Given the description of an element on the screen output the (x, y) to click on. 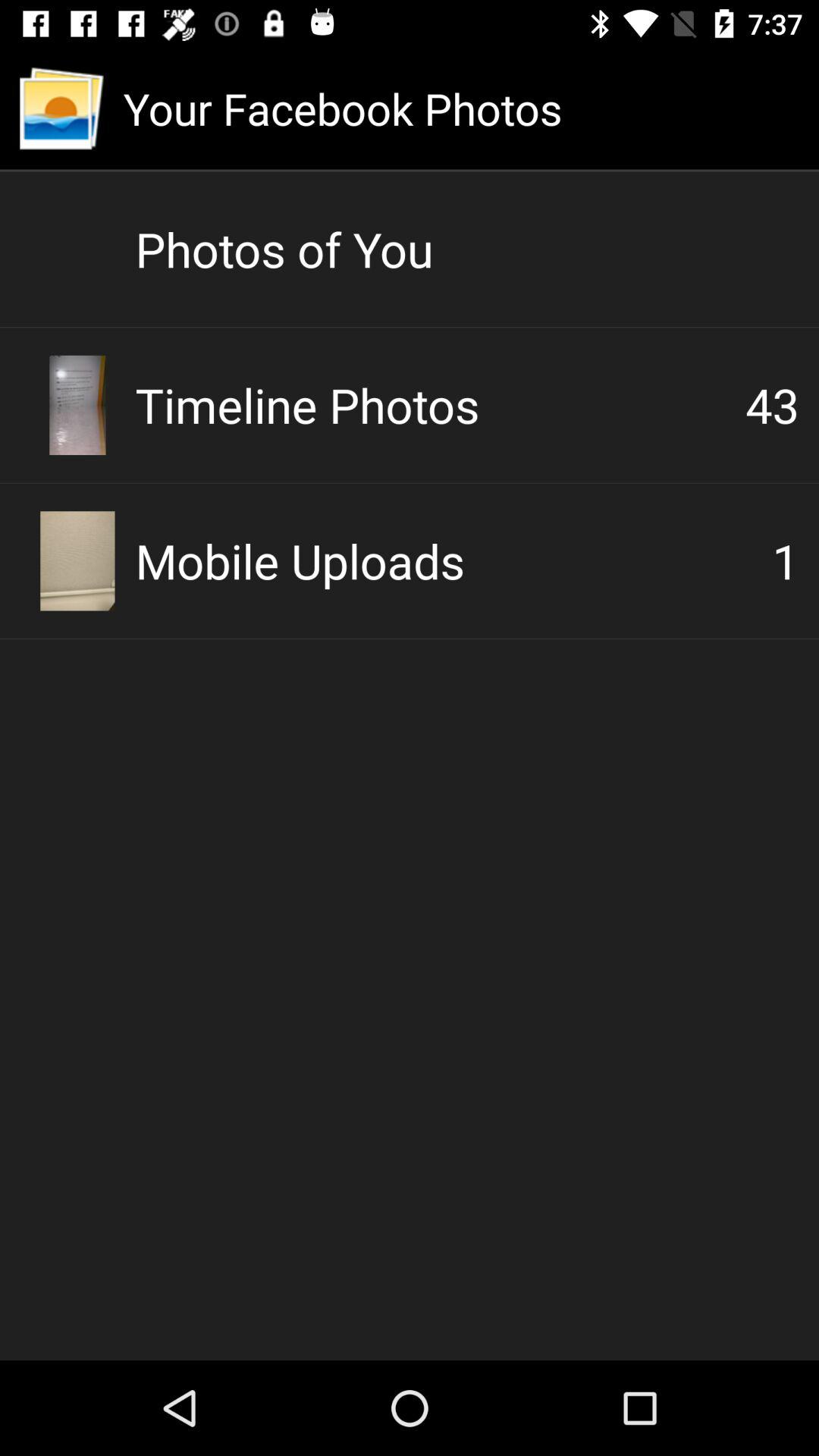
flip to the photos of you (467, 248)
